Given the description of an element on the screen output the (x, y) to click on. 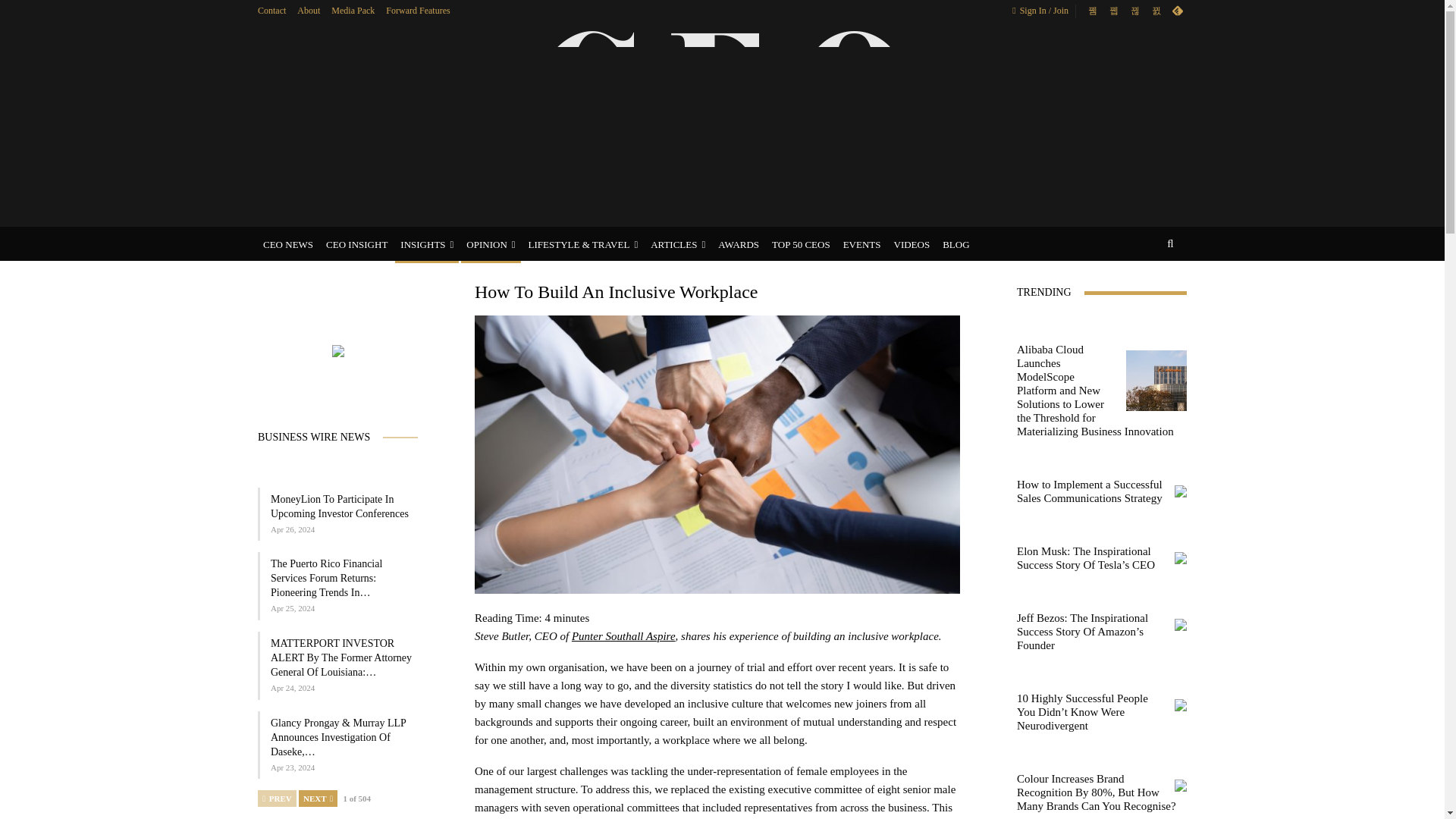
How to Implement a Successful Sales Communications Strategy (1180, 491)
CEO INSIGHT (356, 244)
INSIGHTS (426, 244)
Media Pack (352, 9)
About (308, 9)
CEO NEWS (287, 244)
Forward Features (417, 9)
Contact (271, 9)
